Given the description of an element on the screen output the (x, y) to click on. 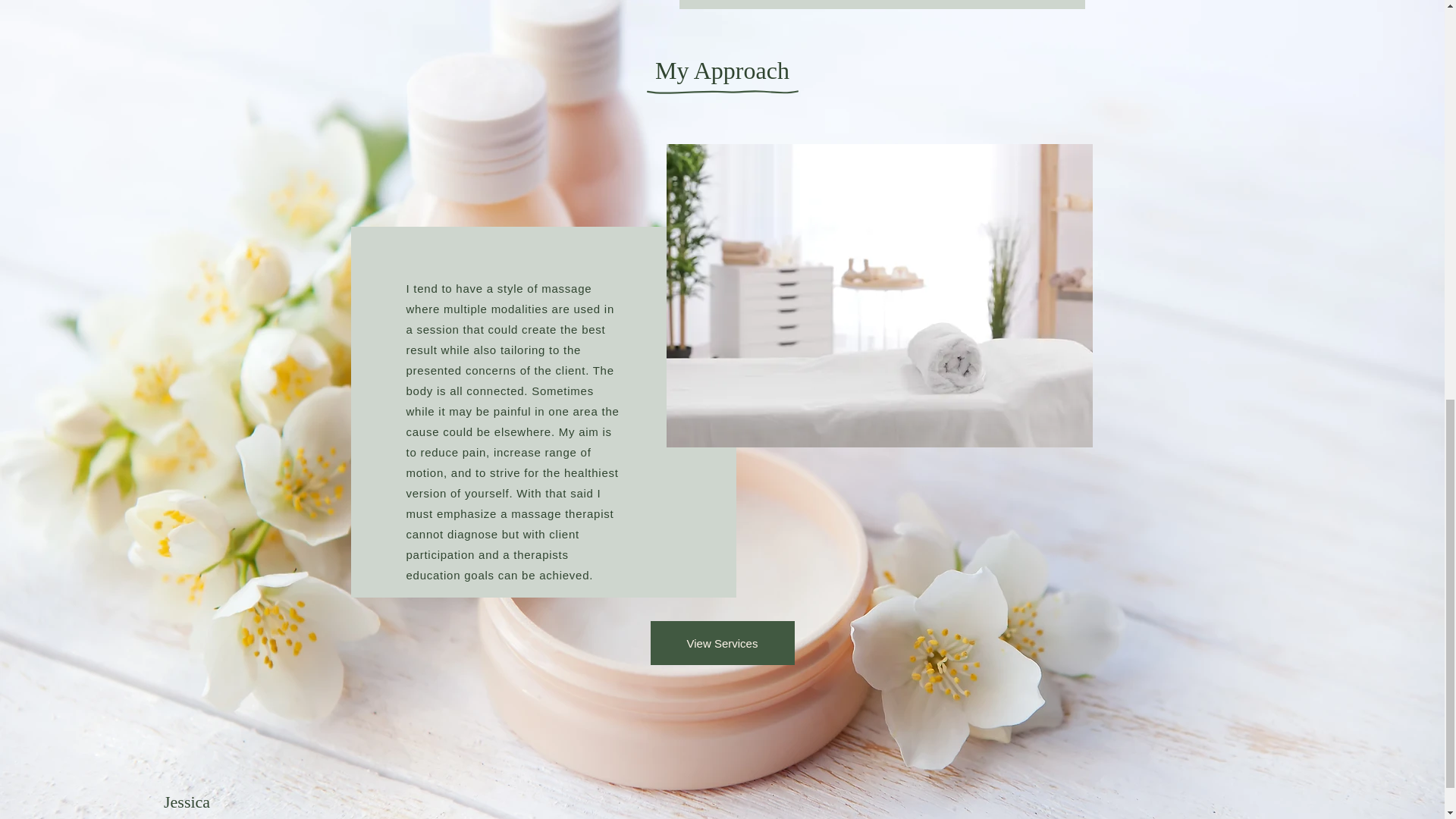
Jessica (186, 801)
View Services (722, 642)
